Given the description of an element on the screen output the (x, y) to click on. 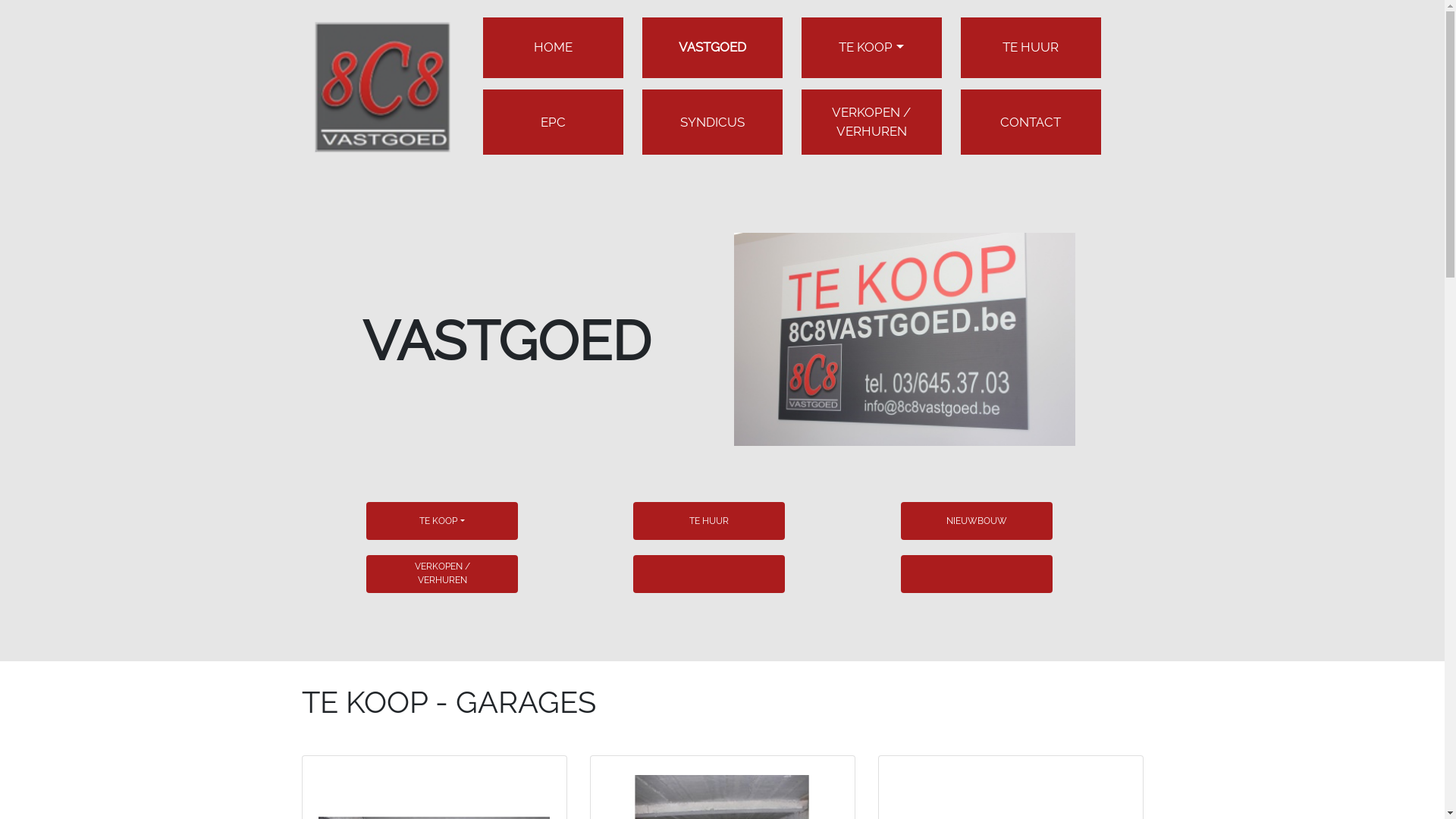
VERKOPEN /
VERHUREN Element type: text (441, 574)
VERKOPEN /
VERHUREN Element type: text (870, 122)
NIEUWBOUW Element type: text (976, 520)
VASTGOED Element type: text (711, 46)
CONTACT Element type: text (1030, 122)
TE KOOP Element type: text (441, 520)
HOME Element type: text (552, 46)
TE HUUR Element type: text (1030, 46)
TE HUUR Element type: text (708, 520)
TE KOOP Element type: text (870, 46)
EPC Element type: text (552, 122)
SYNDICUS Element type: text (711, 122)
